Given the description of an element on the screen output the (x, y) to click on. 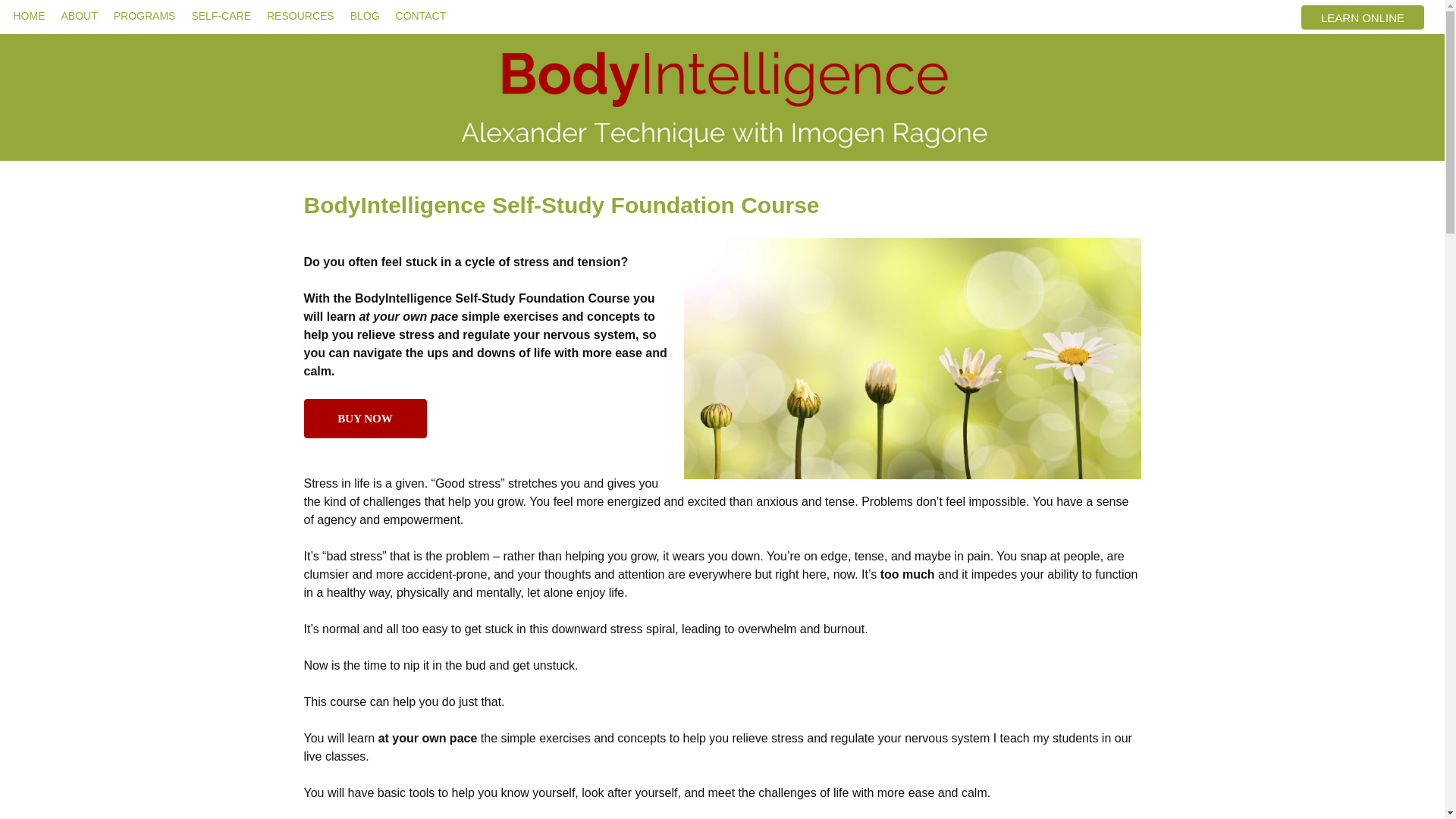
LEARN ONLINE (1362, 16)
BUY NOW (364, 418)
Useful Alexander Technique Resources (300, 15)
HOME (28, 15)
BLOG (364, 15)
PROGRAMS (143, 15)
Contact Imogen (420, 15)
RESOURCES (300, 15)
CONTACT (420, 15)
ABOUT (78, 15)
SELF-CARE (221, 15)
